Given the description of an element on the screen output the (x, y) to click on. 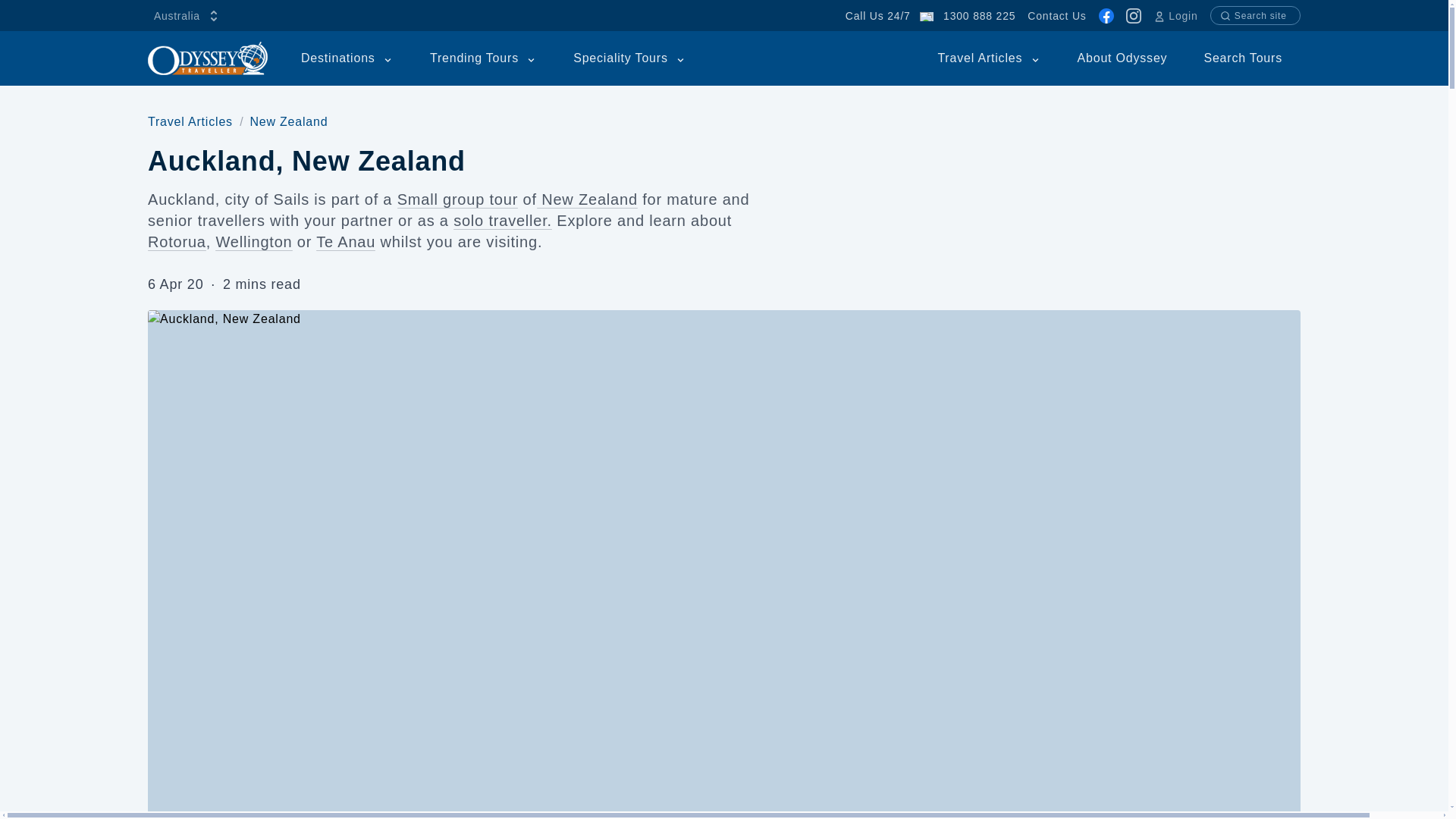
Odyssey Traveller Home Page (207, 58)
Instagram (1133, 14)
Call Us (978, 15)
Australia (187, 14)
Contact Us (1056, 14)
1300 888 225 (978, 15)
Facebook (1106, 14)
Contact Us (1056, 14)
Login (1175, 14)
